Given the description of an element on the screen output the (x, y) to click on. 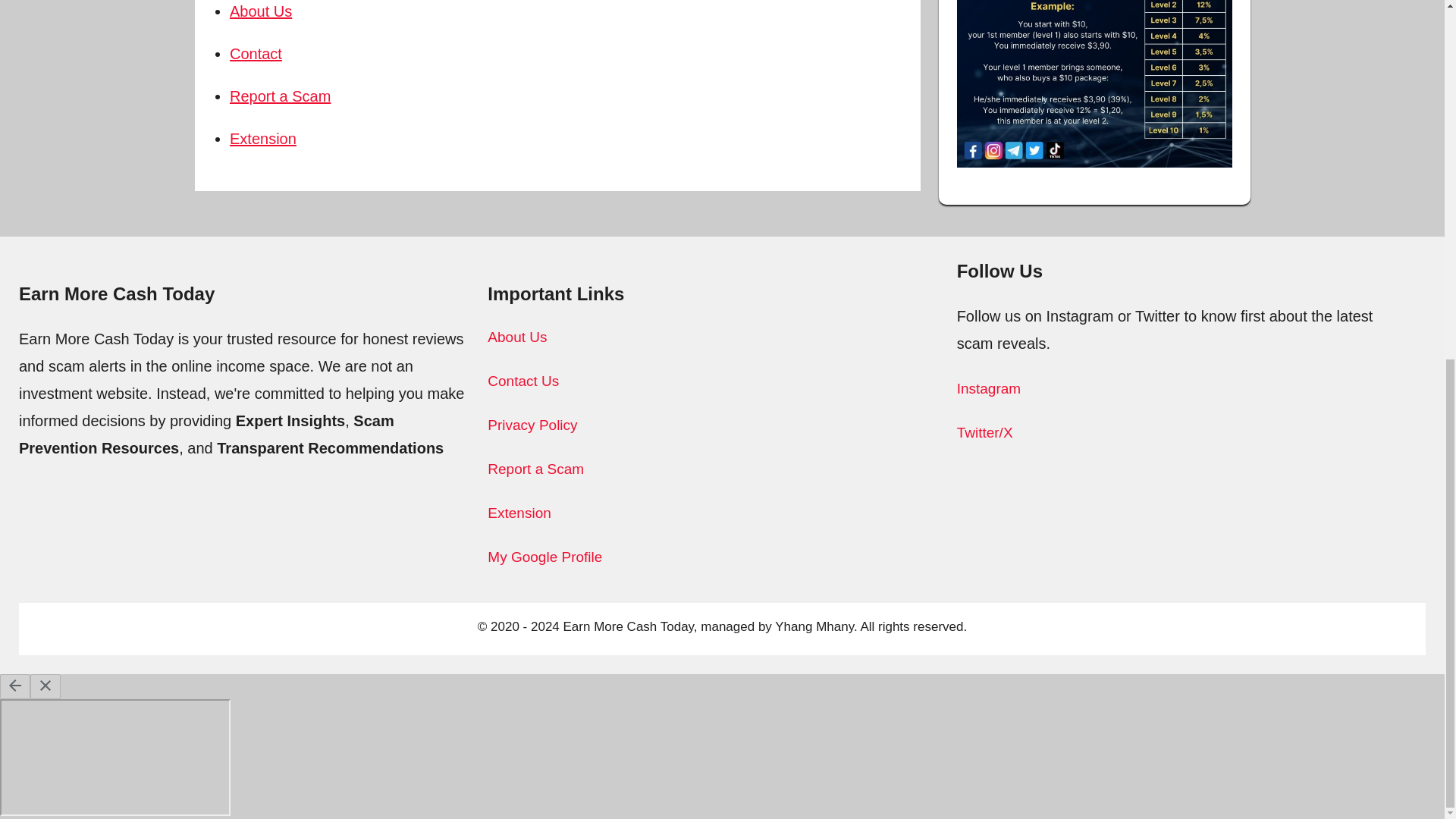
Contact Us (523, 381)
Report a Scam (280, 95)
About Us (261, 11)
My Google Profile (544, 556)
Contact (256, 53)
Extension (263, 138)
About Us (517, 336)
Privacy Policy (531, 424)
Extension (518, 512)
Report a Scam (535, 468)
